Given the description of an element on the screen output the (x, y) to click on. 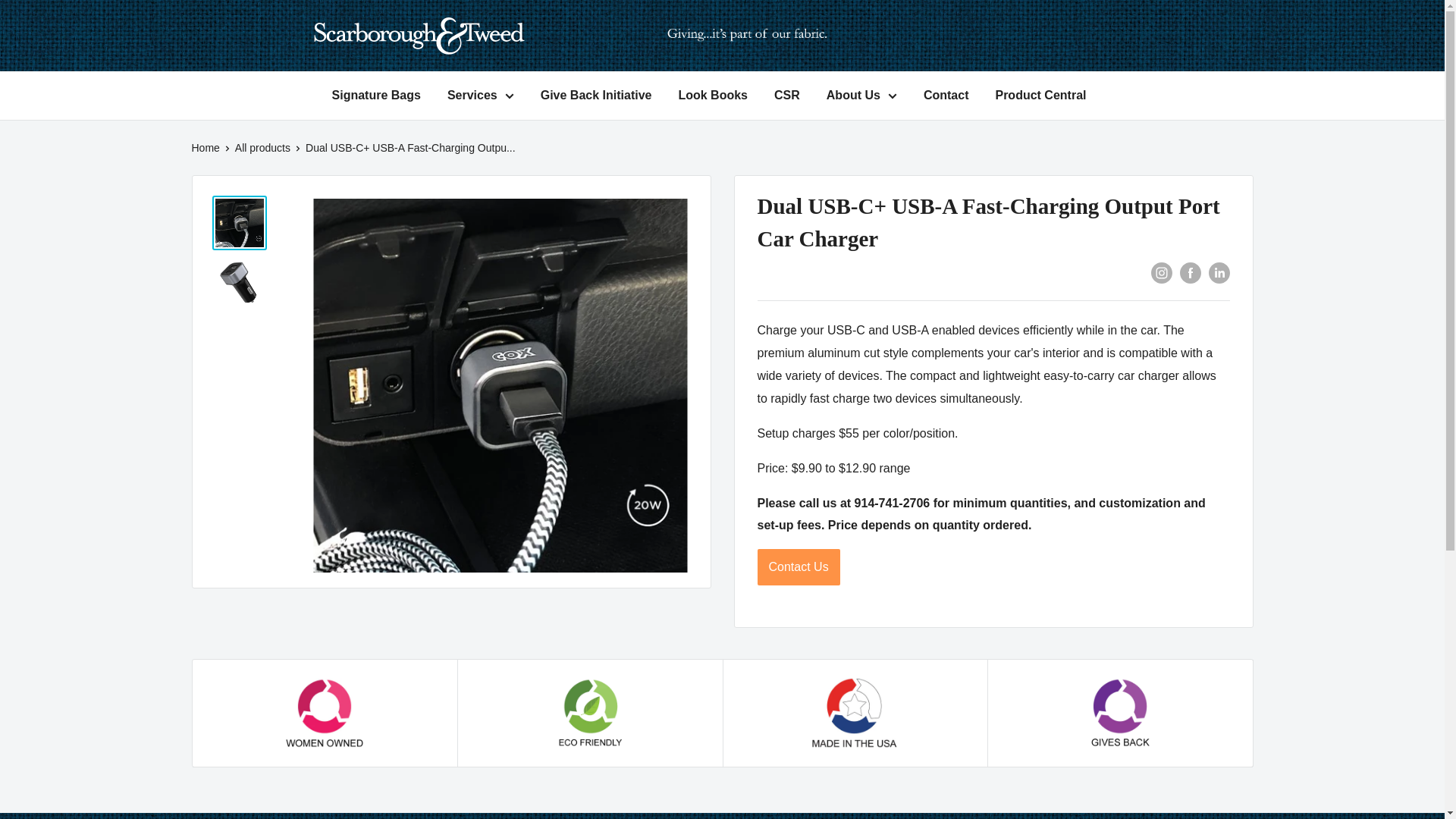
Signature Bags (375, 95)
Services (479, 95)
